Given the description of an element on the screen output the (x, y) to click on. 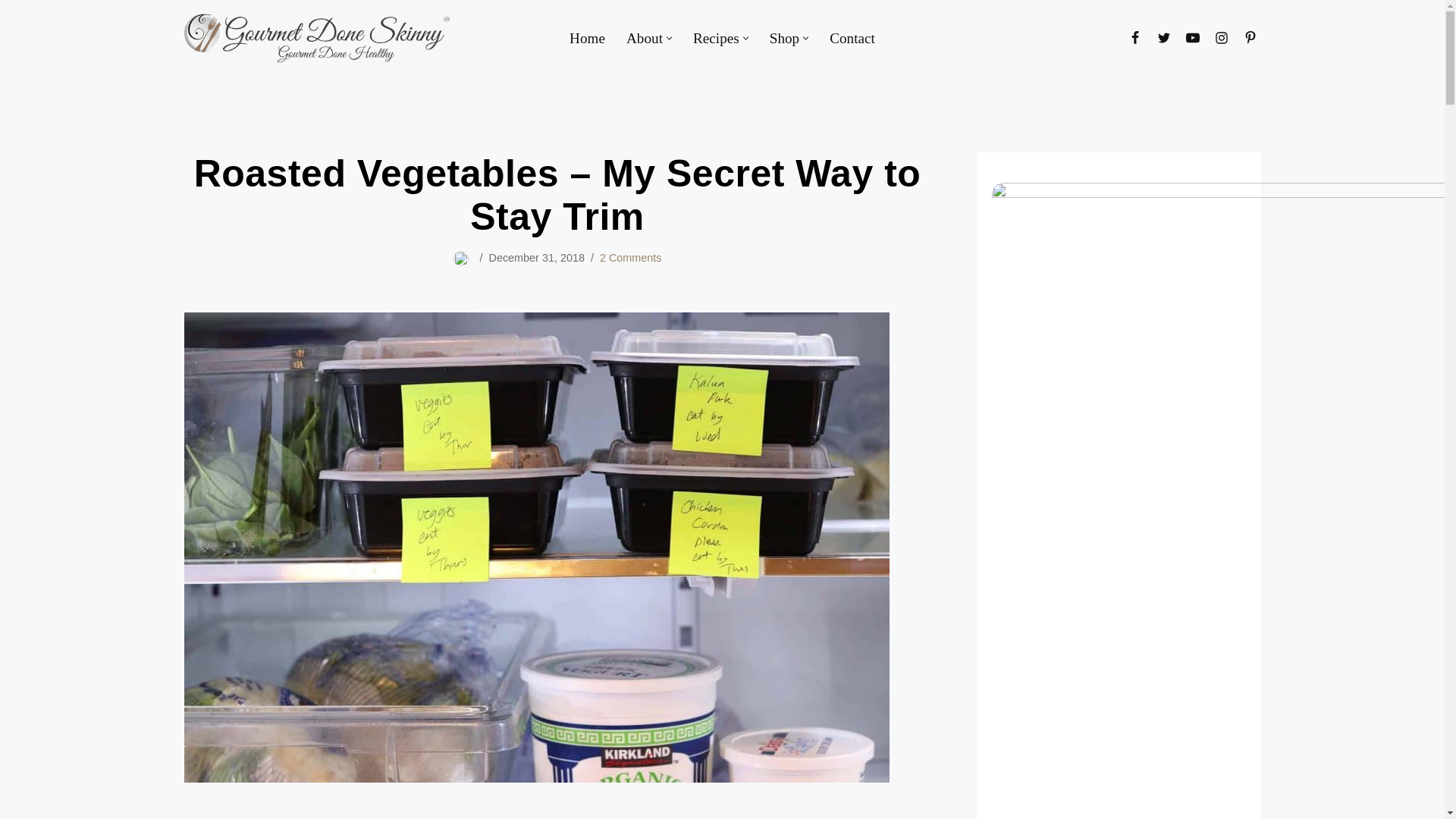
Instagram (1220, 37)
Twitter (1163, 37)
Home (587, 38)
Recipes (716, 38)
Pinterest (1249, 37)
Shop (784, 38)
Contact (852, 38)
About (644, 38)
Skip to content (11, 31)
Youtube (1191, 37)
